Given the description of an element on the screen output the (x, y) to click on. 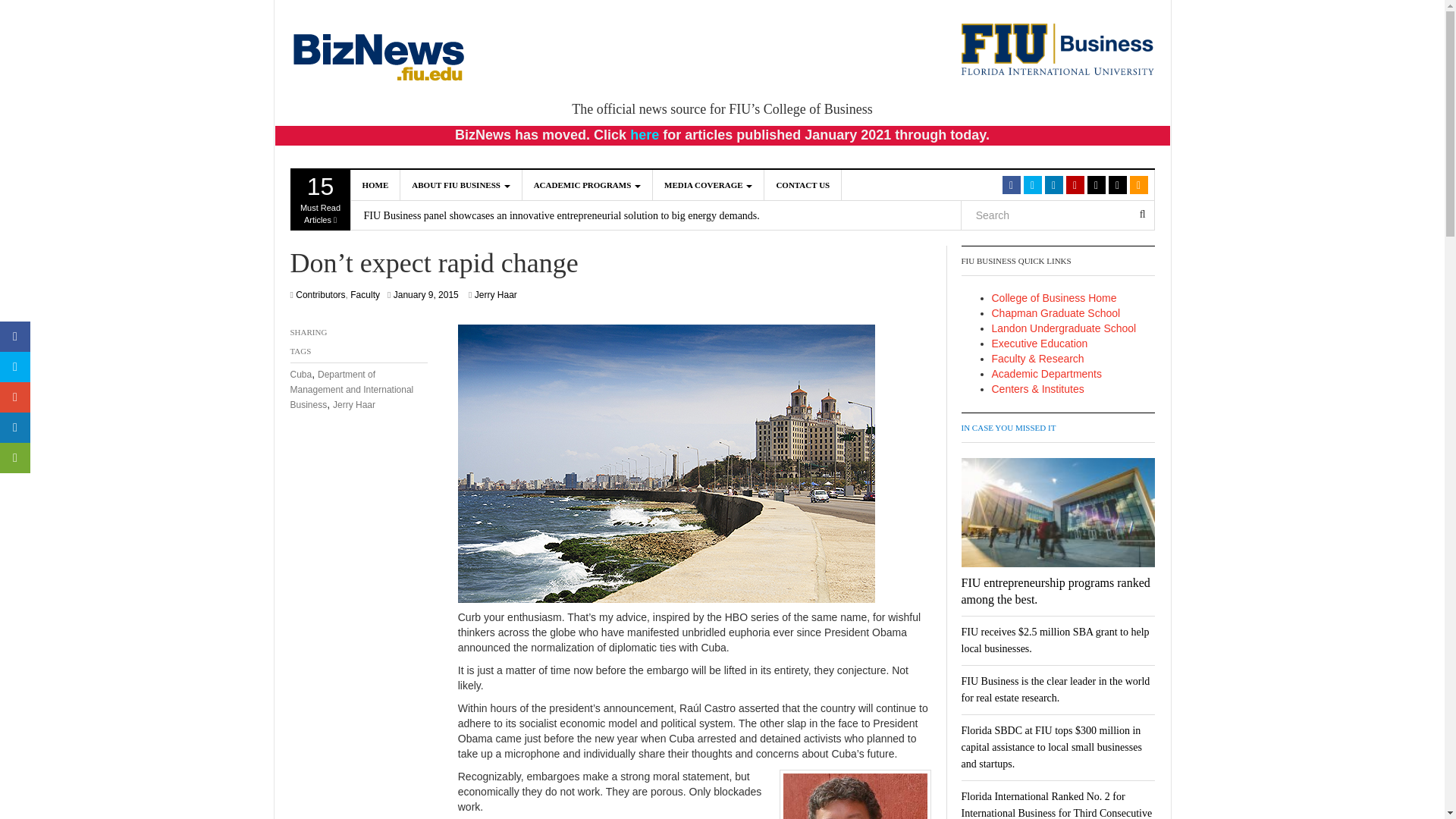
HOME (375, 184)
here (644, 134)
ACADEMIC PROGRAMS (319, 199)
MEDIA COVERAGE (587, 184)
ABOUT FIU BUSINESS (708, 184)
